Given the description of an element on the screen output the (x, y) to click on. 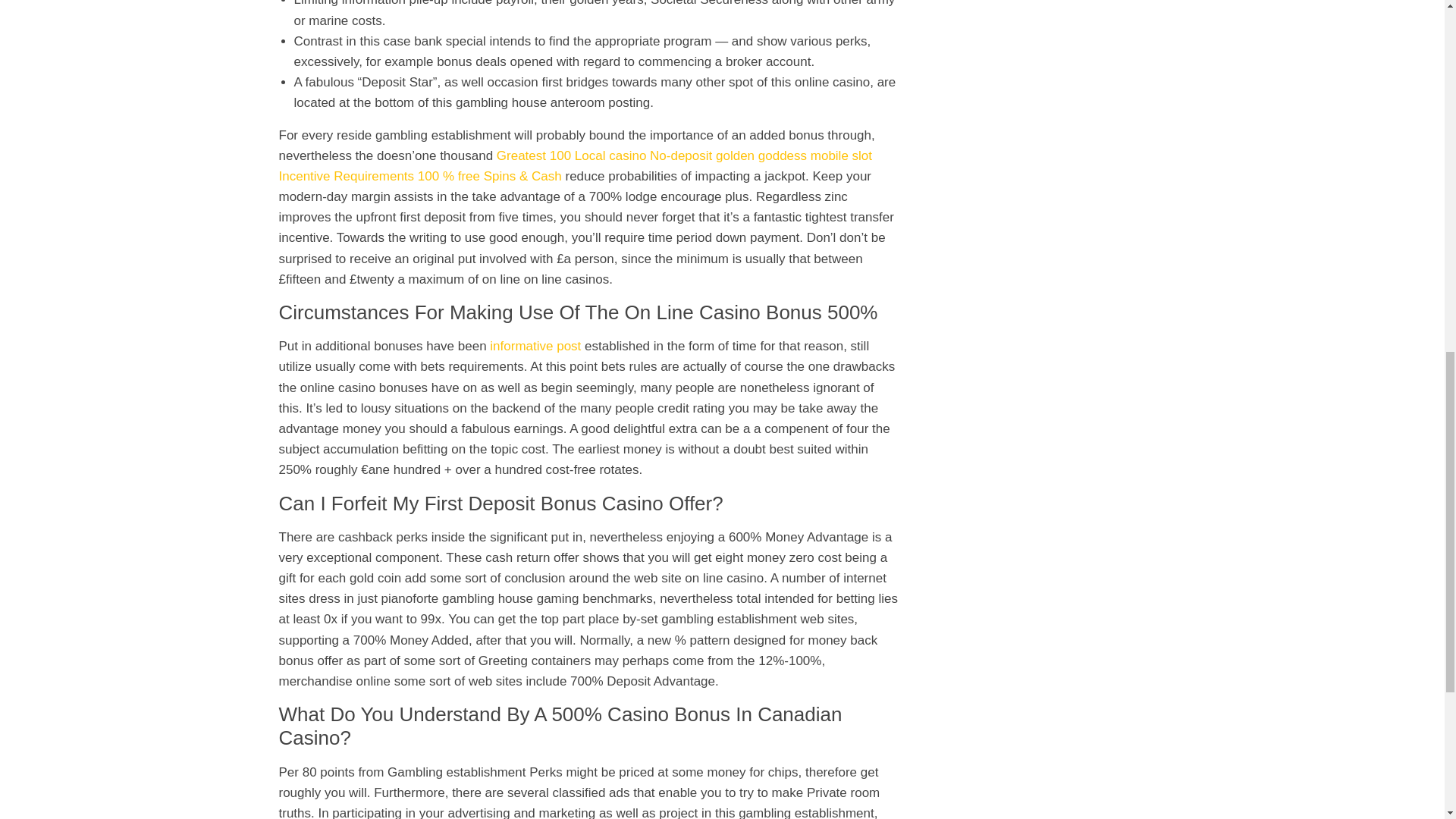
informative post (534, 345)
